Given the description of an element on the screen output the (x, y) to click on. 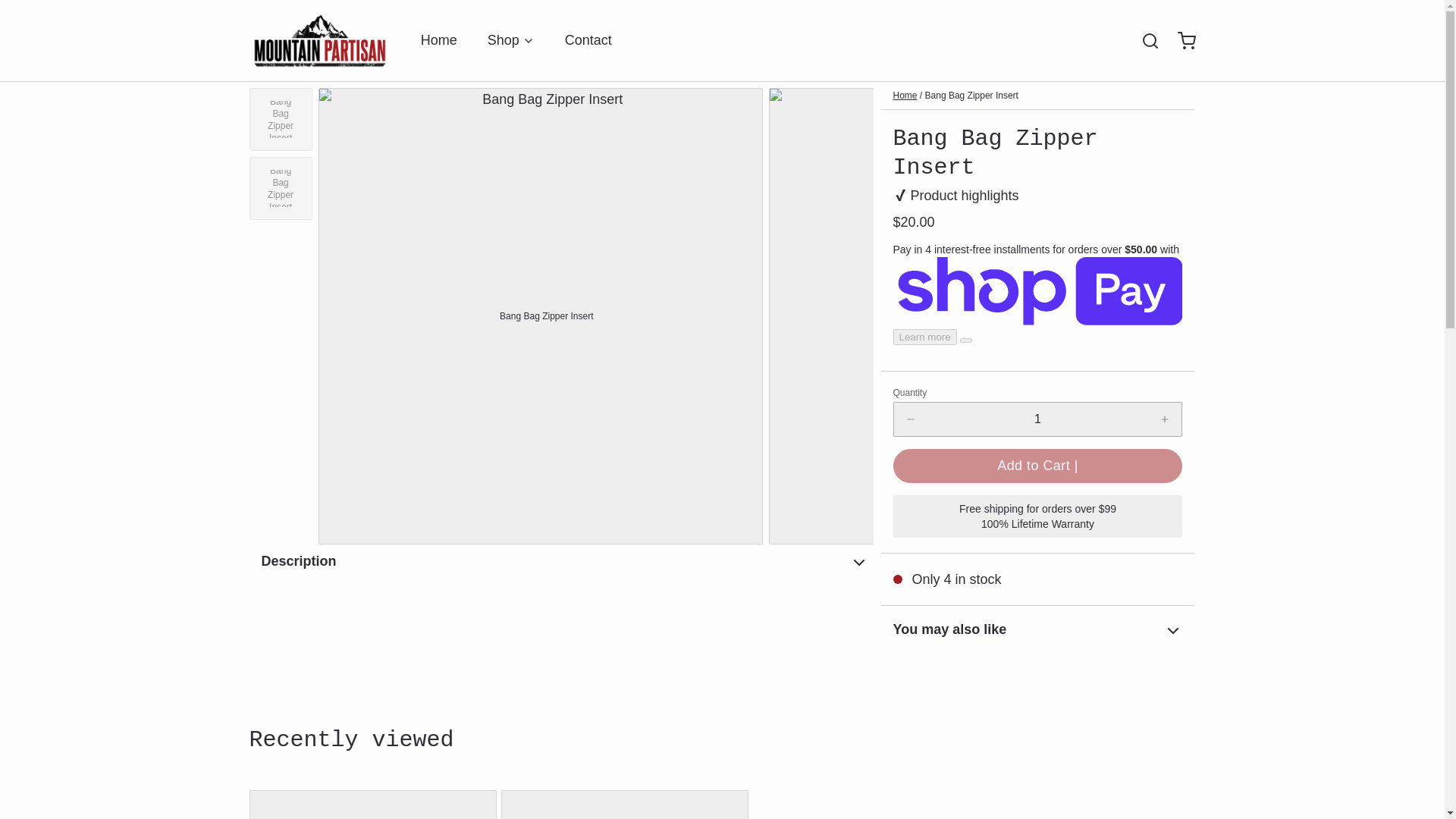
Decrease quantity (909, 418)
1 (1037, 418)
Home (438, 40)
Search (1143, 40)
Shop (511, 40)
Home (905, 95)
Contact (588, 40)
Cart (1179, 40)
Mountain Partisan (319, 40)
Increase quantity (1164, 418)
